Given the description of an element on the screen output the (x, y) to click on. 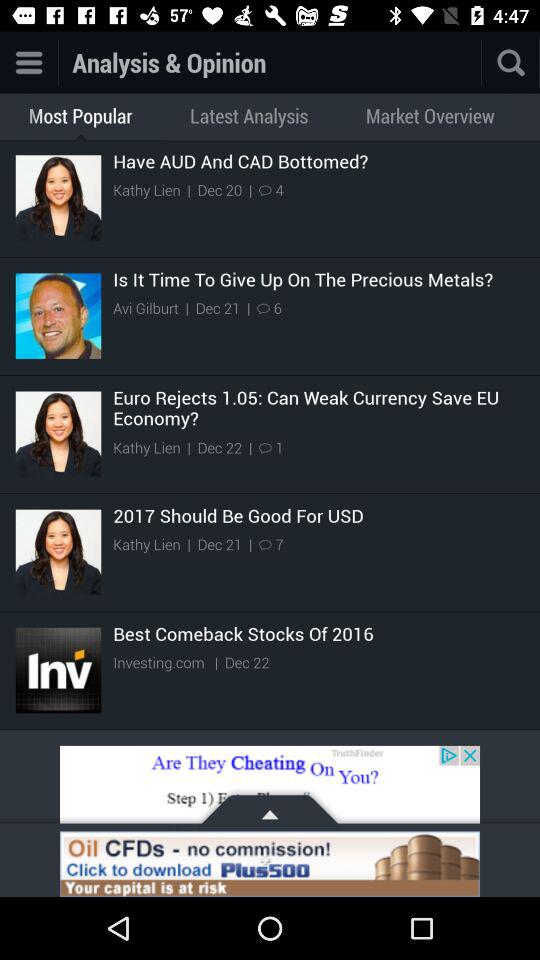
search articles (481, 62)
